Given the description of an element on the screen output the (x, y) to click on. 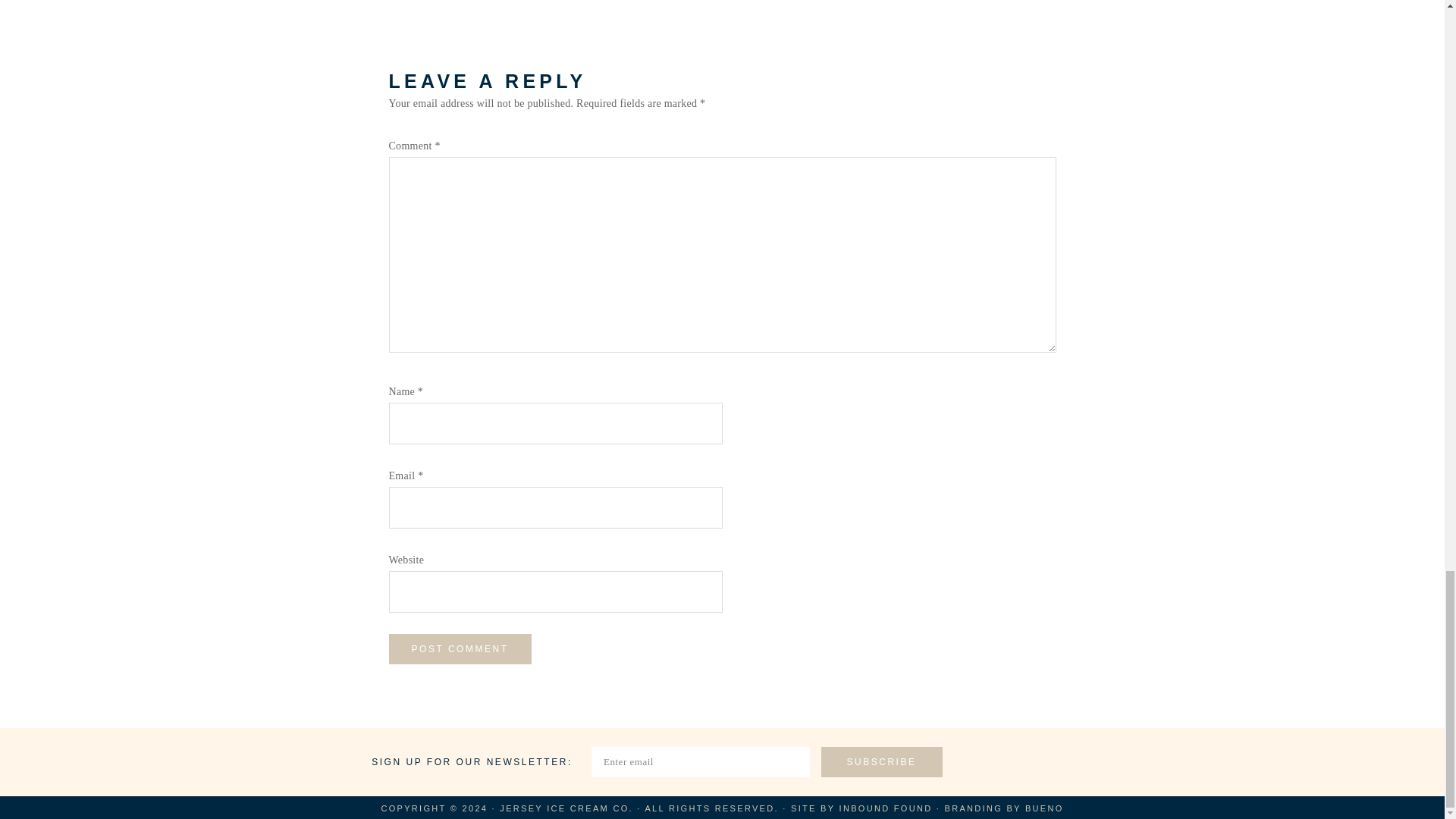
Subscribe (881, 761)
Subscribe (881, 761)
Post Comment (459, 648)
BUENO (1044, 807)
Post Comment (459, 648)
INBOUND FOUND (886, 807)
JERSEY ICE CREAM CO. (566, 807)
